Given the description of an element on the screen output the (x, y) to click on. 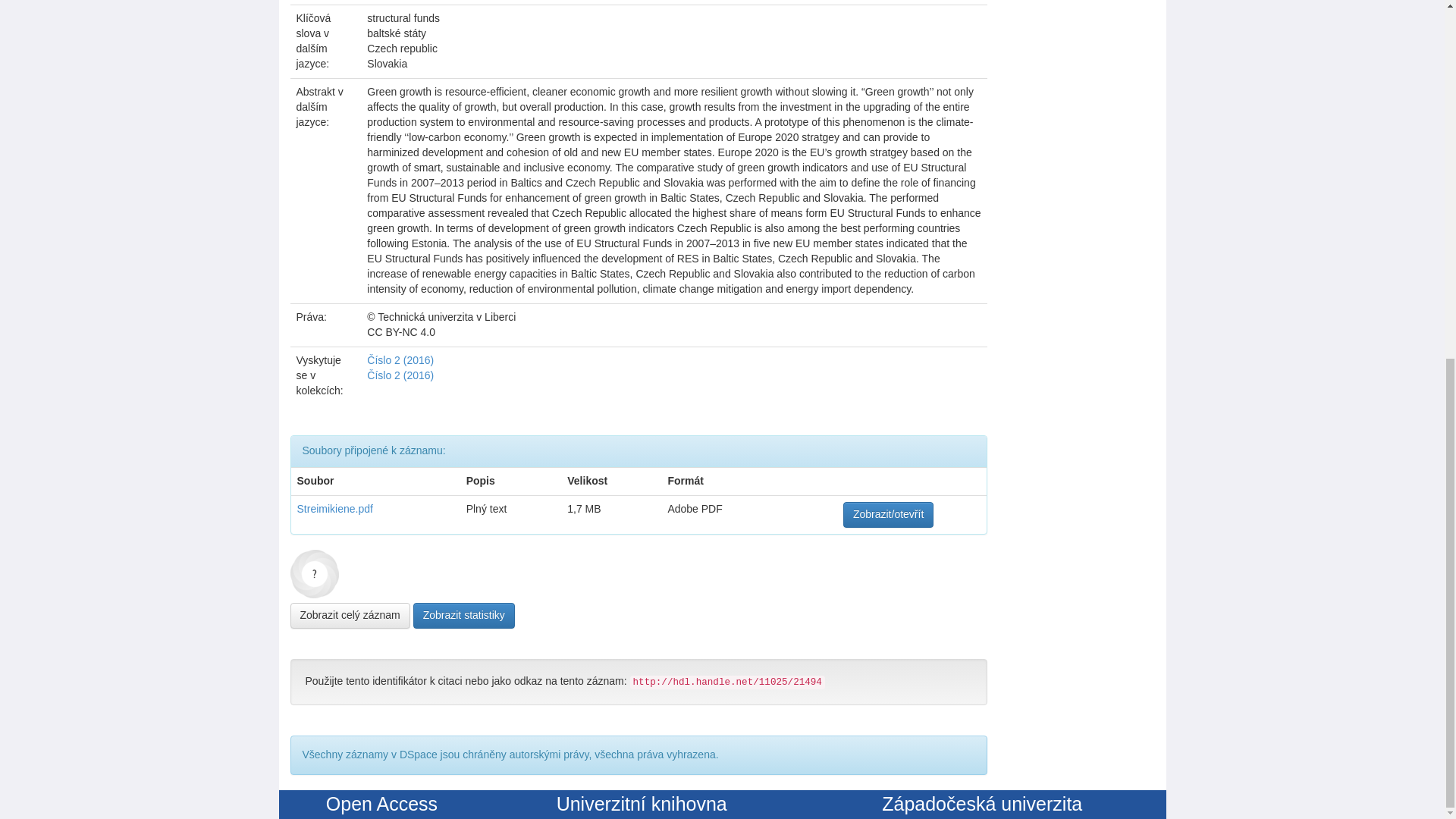
Streimikiene.pdf (334, 508)
Open Access (382, 803)
Zobrazit statistiky (464, 615)
